Given the description of an element on the screen output the (x, y) to click on. 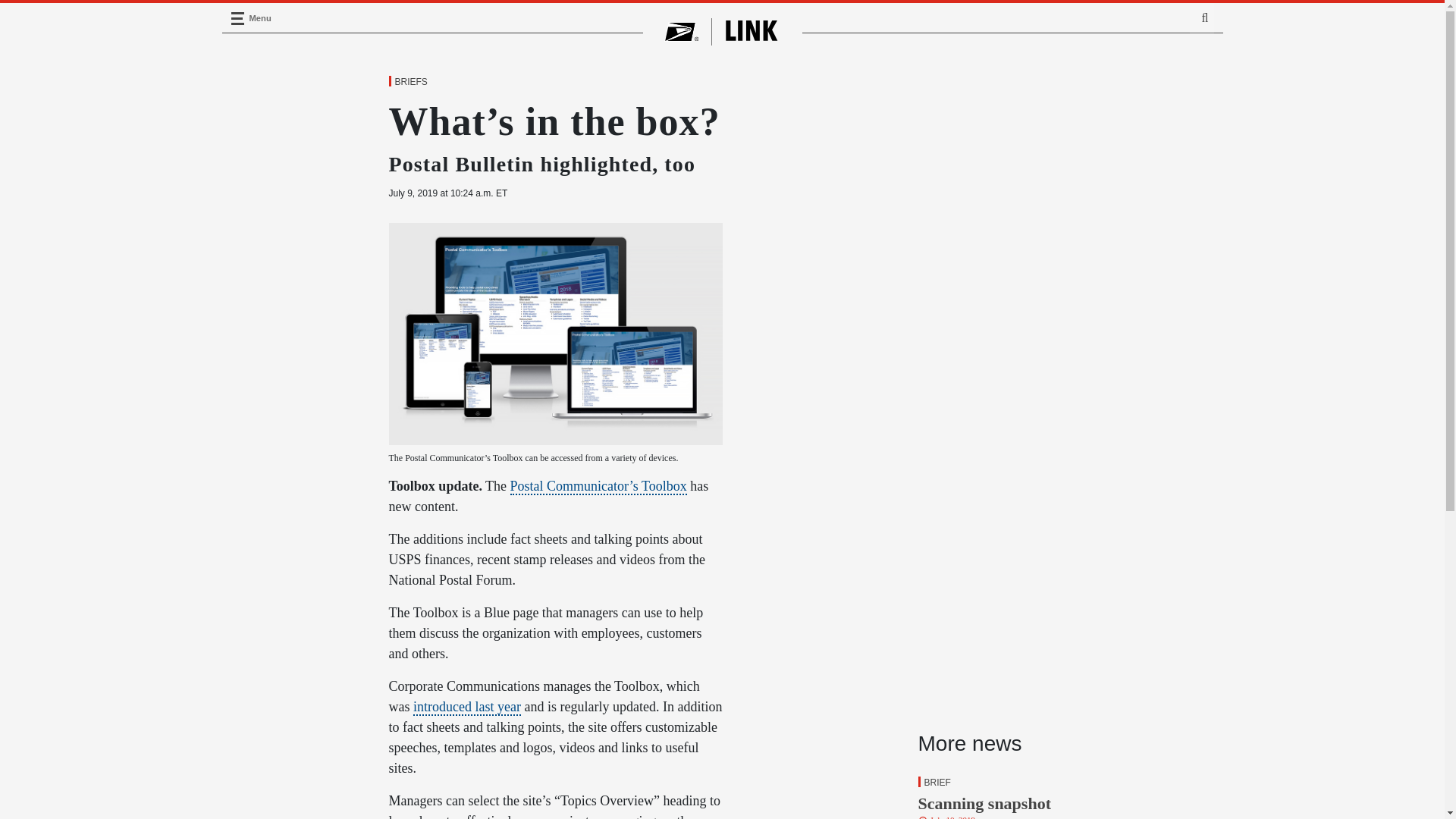
Menu (1027, 794)
BRIEFS (237, 18)
introduced last year (410, 81)
